Given the description of an element on the screen output the (x, y) to click on. 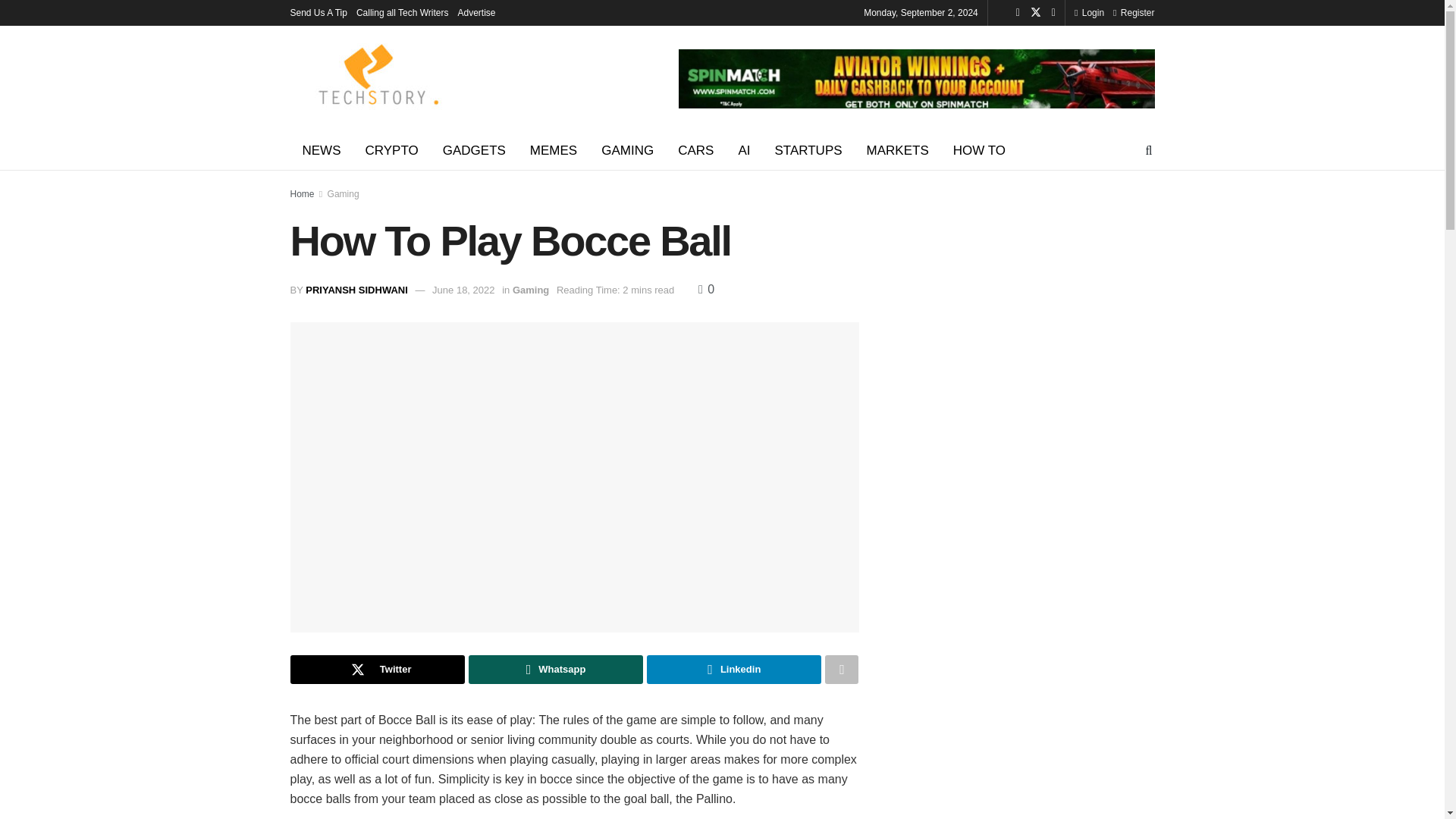
MEMES (553, 150)
Login (1088, 12)
CRYPTO (391, 150)
STARTUPS (807, 150)
Send Us A Tip (317, 12)
Calling all Tech Writers (402, 12)
MARKETS (897, 150)
AI (743, 150)
GAMING (627, 150)
NEWS (320, 150)
